Given the description of an element on the screen output the (x, y) to click on. 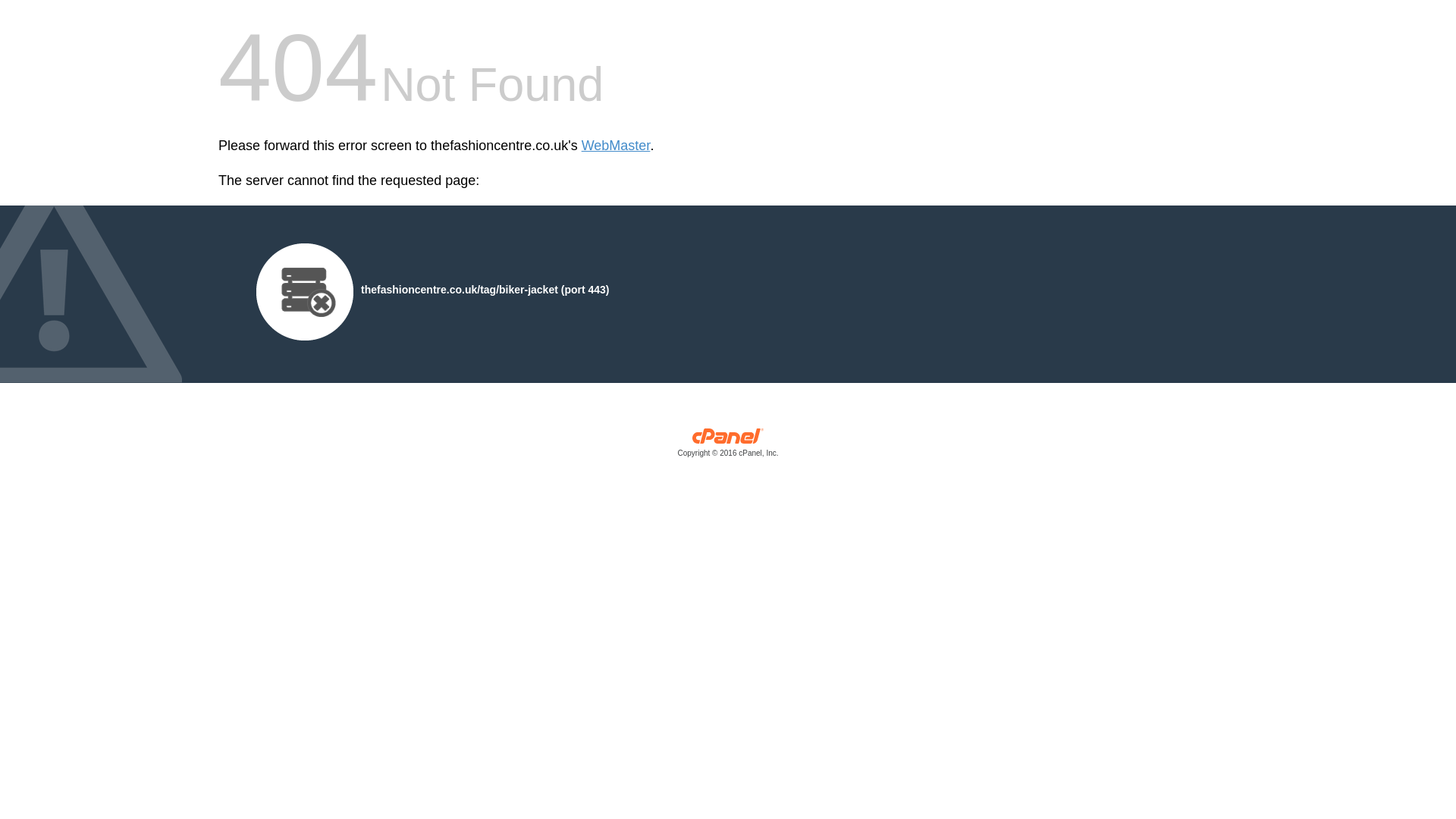
cPanel, Inc. (727, 446)
WebMaster (615, 145)
